Given the description of an element on the screen output the (x, y) to click on. 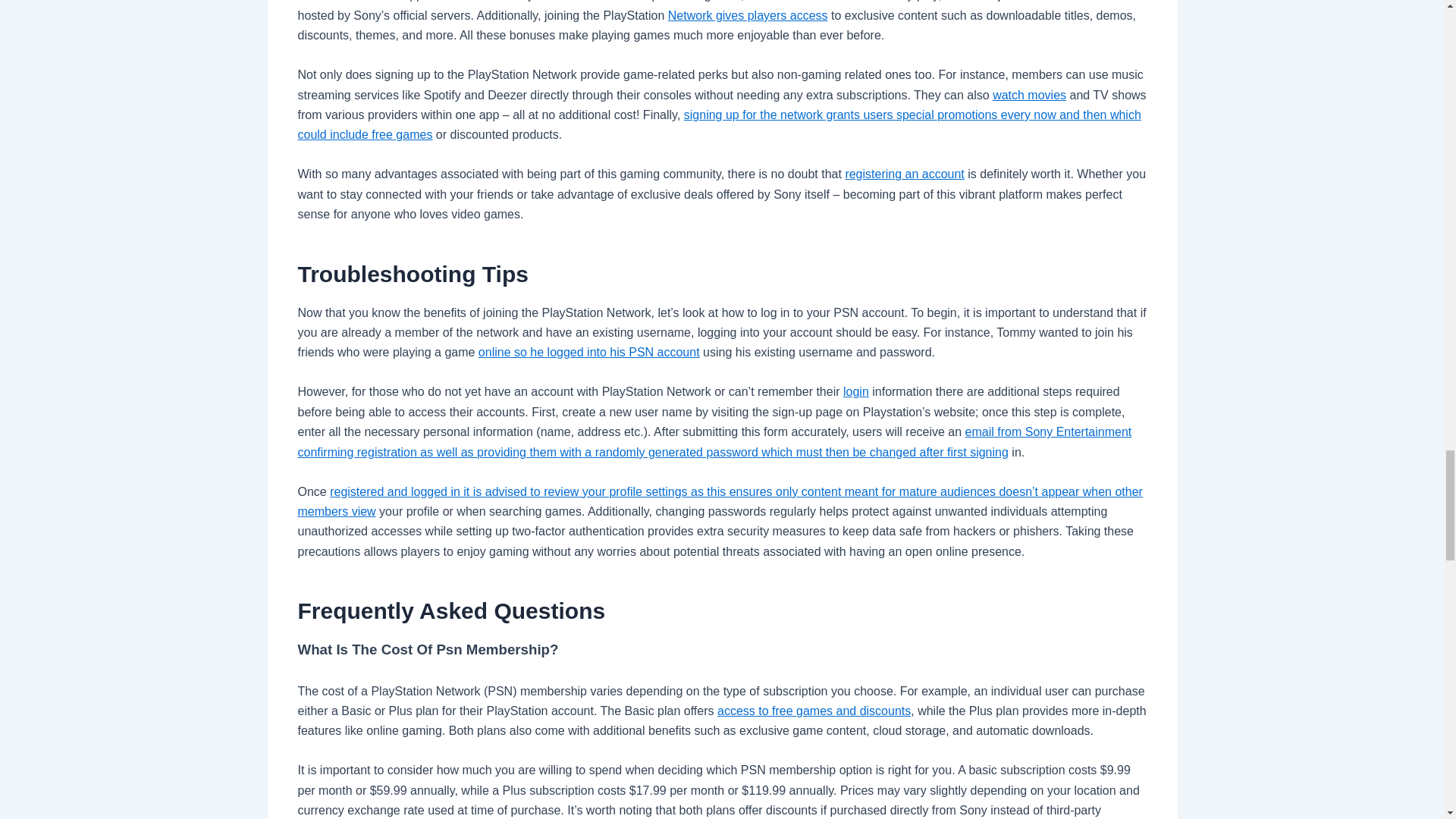
online so he logged into his PSN account (589, 351)
Network gives players access (748, 15)
login (856, 391)
registering an account (903, 173)
watch movies (1028, 94)
